Given the description of an element on the screen output the (x, y) to click on. 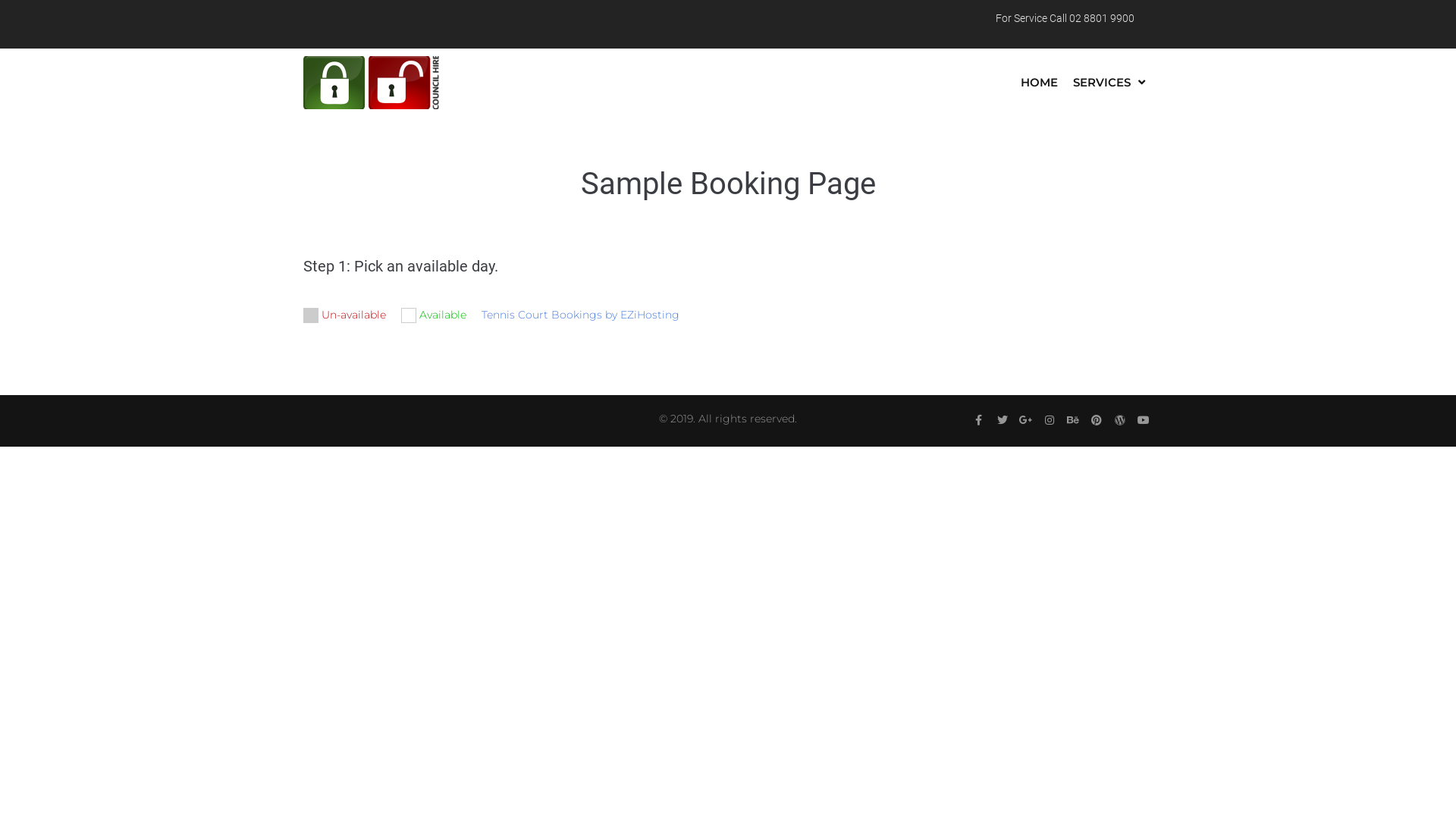
HOME Element type: text (1038, 82)
Tennis Court Bookings by EZiHosting Element type: text (580, 314)
logo-3 Element type: hover (371, 82)
SERVICES Element type: text (1109, 82)
